Given the description of an element on the screen output the (x, y) to click on. 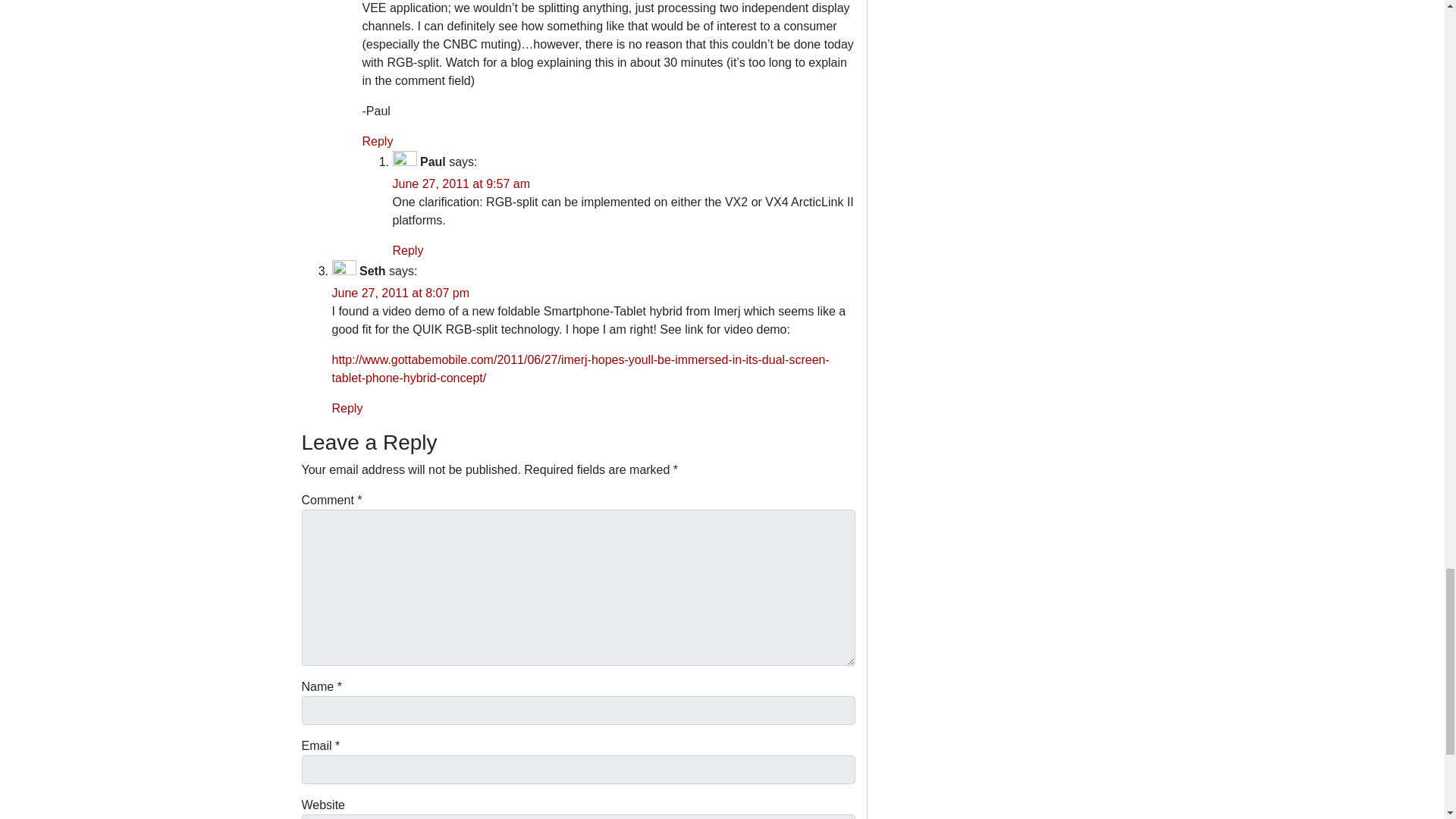
June 27, 2011 at 9:57 am (461, 183)
Reply (408, 250)
Reply (377, 141)
